Given the description of an element on the screen output the (x, y) to click on. 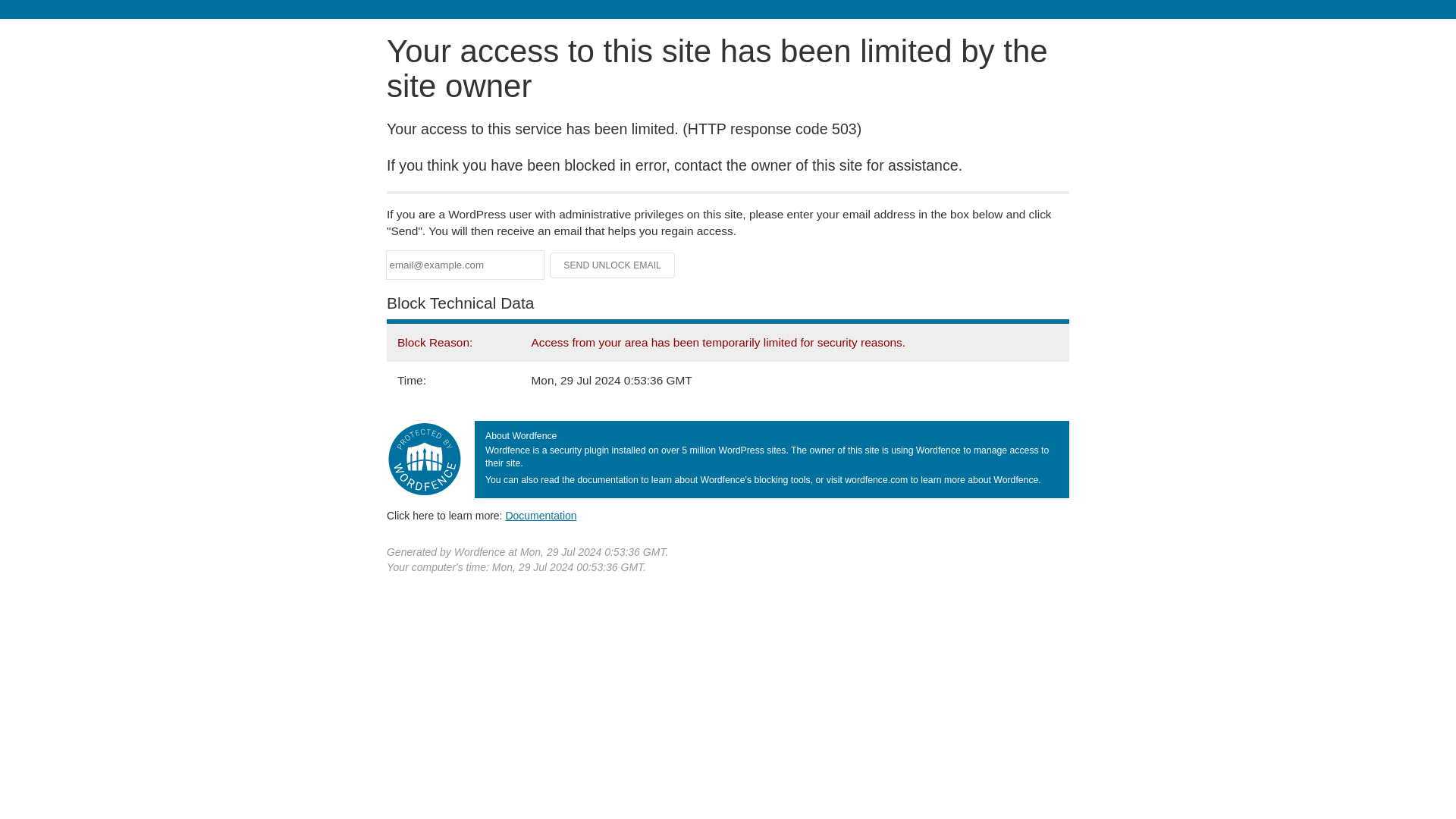
Send Unlock Email (612, 265)
Documentation (540, 515)
Send Unlock Email (612, 265)
